Given the description of an element on the screen output the (x, y) to click on. 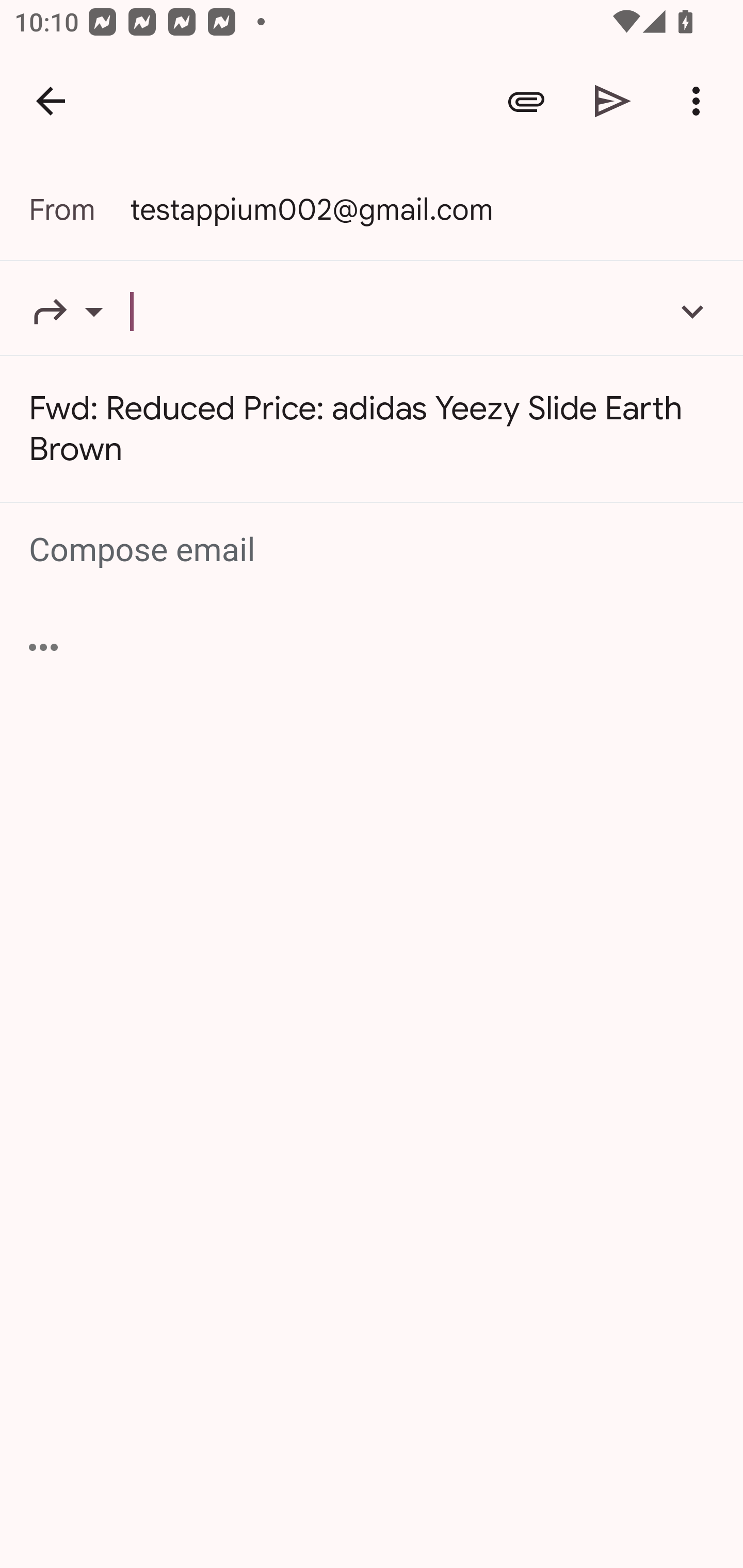
Navigate up (50, 101)
Attach file (525, 101)
Send (612, 101)
More options (699, 101)
From (79, 209)
Forward (79, 311)
Add Cc/Bcc (692, 311)
Fwd: Reduced Price: adidas Yeezy Slide Earth Brown (371, 428)
Compose email (372, 550)
Include quoted text (43, 646)
